Given the description of an element on the screen output the (x, y) to click on. 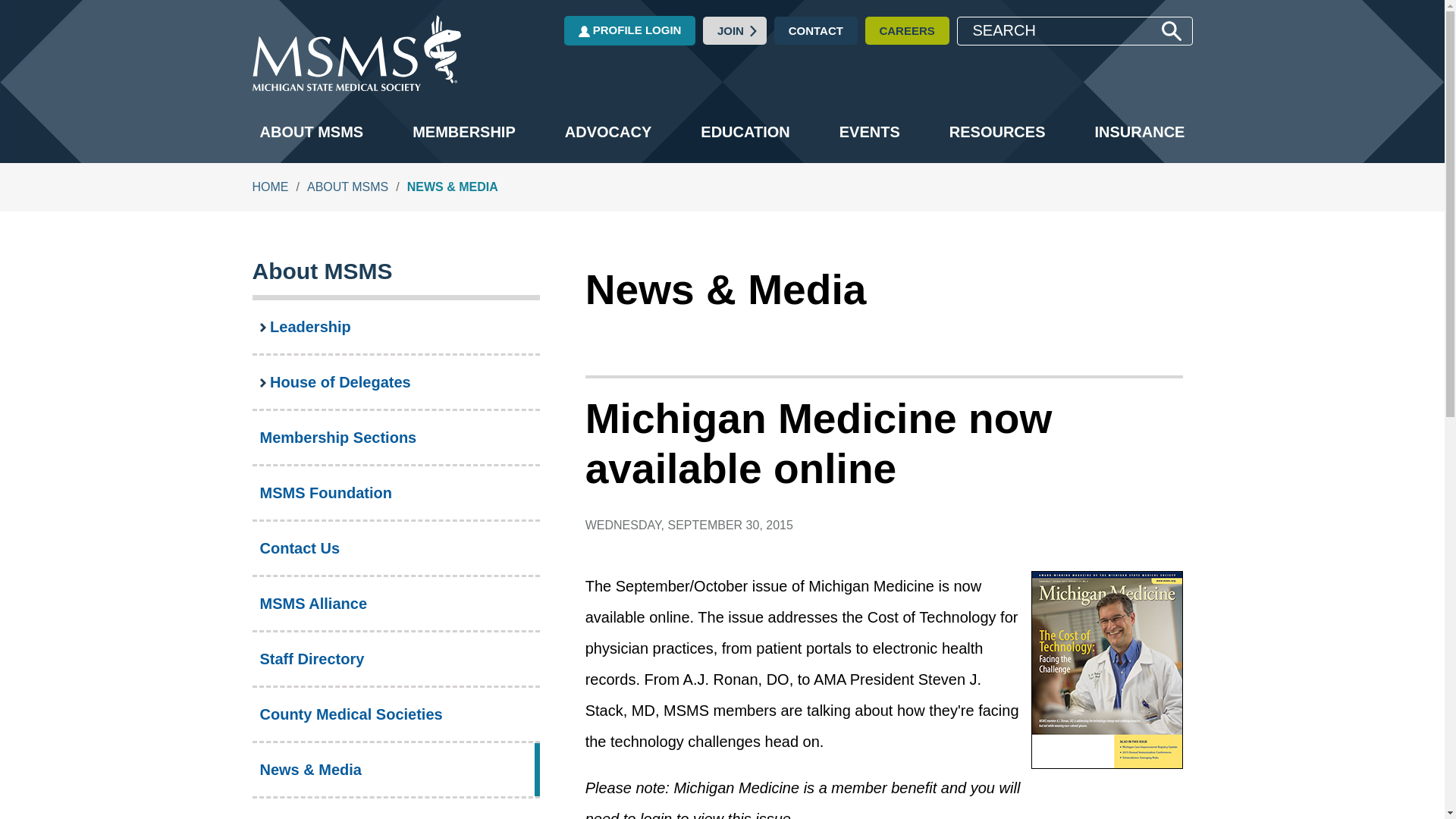
HOME (269, 186)
Michigan State Medical Society (356, 85)
Submit (1170, 30)
ABOUT MSMS (311, 132)
CONTACT (815, 30)
INSURANCE (1139, 132)
ABOUT MSMS (347, 186)
Contact Us (394, 547)
Submit (1170, 30)
EVENTS (869, 132)
About MSMS (321, 270)
RESOURCES (997, 132)
MSMS Alliance (394, 603)
EDUCATION (744, 132)
MSMS Foundation (394, 492)
